Given the description of an element on the screen output the (x, y) to click on. 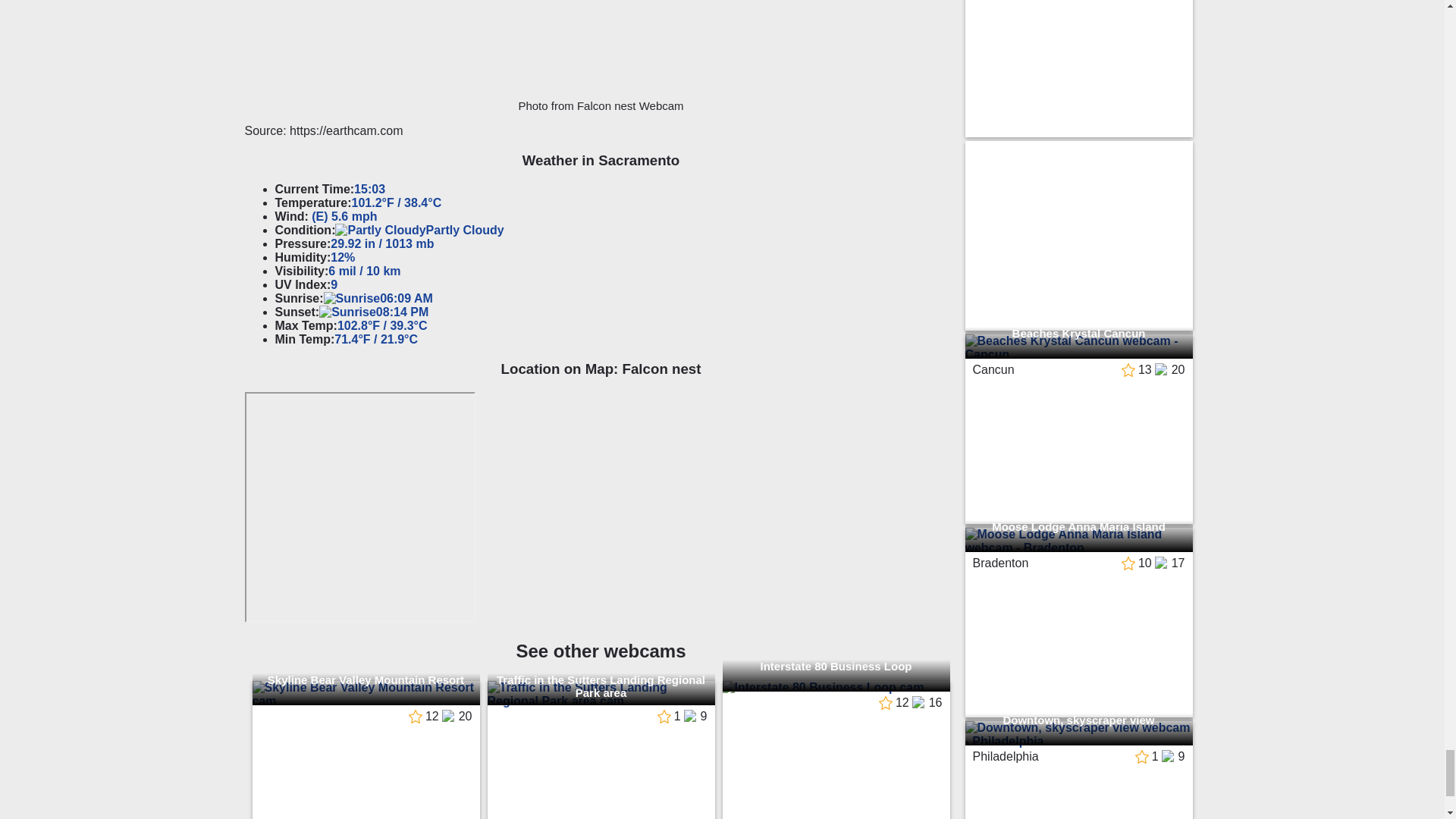
See Traffic in the Sutters Landing Regional Park area (600, 694)
See Interstate 80 Business Loop (835, 687)
See Skyline Bear Valley Mountain Resort (365, 694)
